Given the description of an element on the screen output the (x, y) to click on. 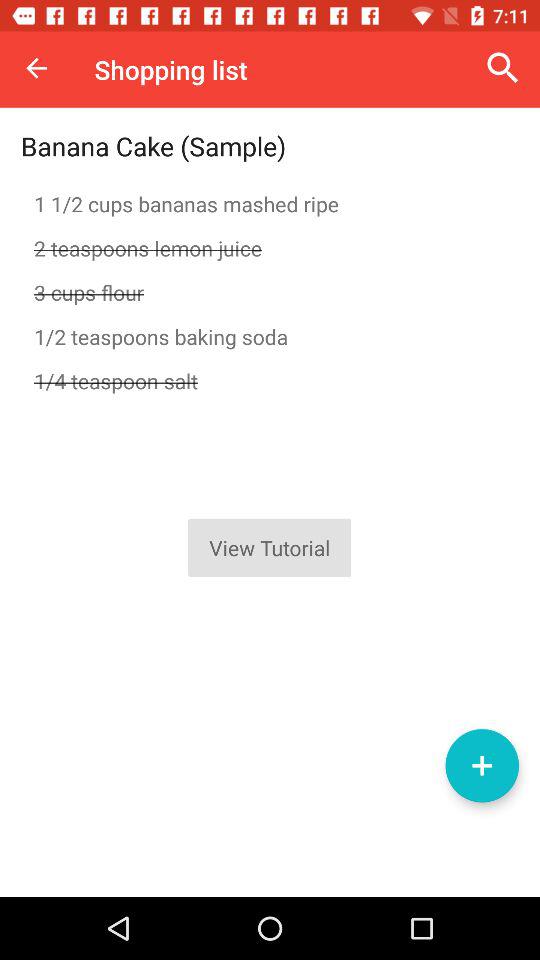
flip until the 3 cups flour icon (270, 292)
